Given the description of an element on the screen output the (x, y) to click on. 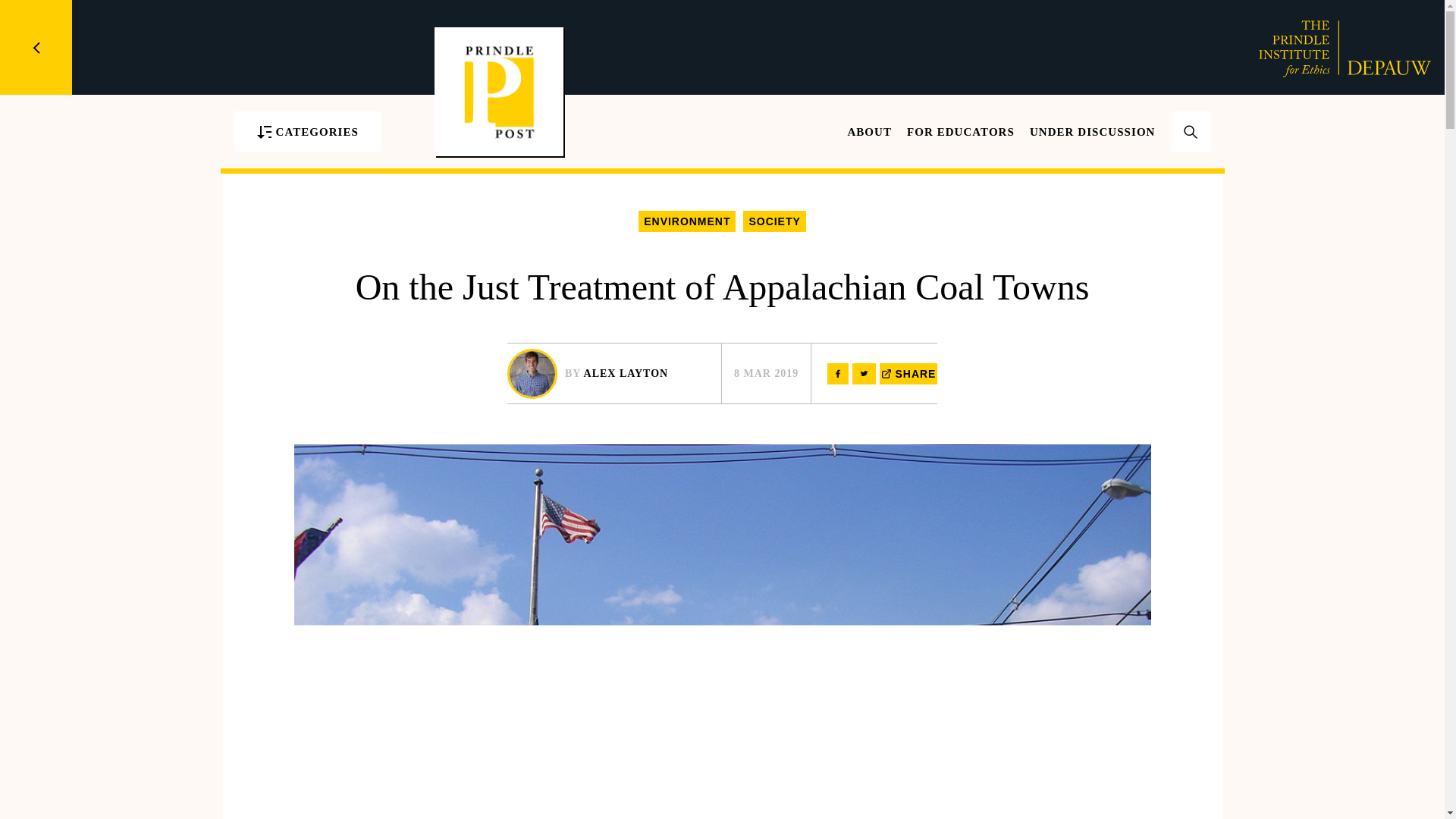
FOR EDUCATORS (960, 131)
GO (1190, 151)
ABOUT (869, 131)
ENVIRONMENT (687, 220)
CATEGORIES (306, 131)
SOCIETY (773, 220)
BY ALEX LAYTON (613, 373)
UNDER DISCUSSION (1092, 131)
